Given the description of an element on the screen output the (x, y) to click on. 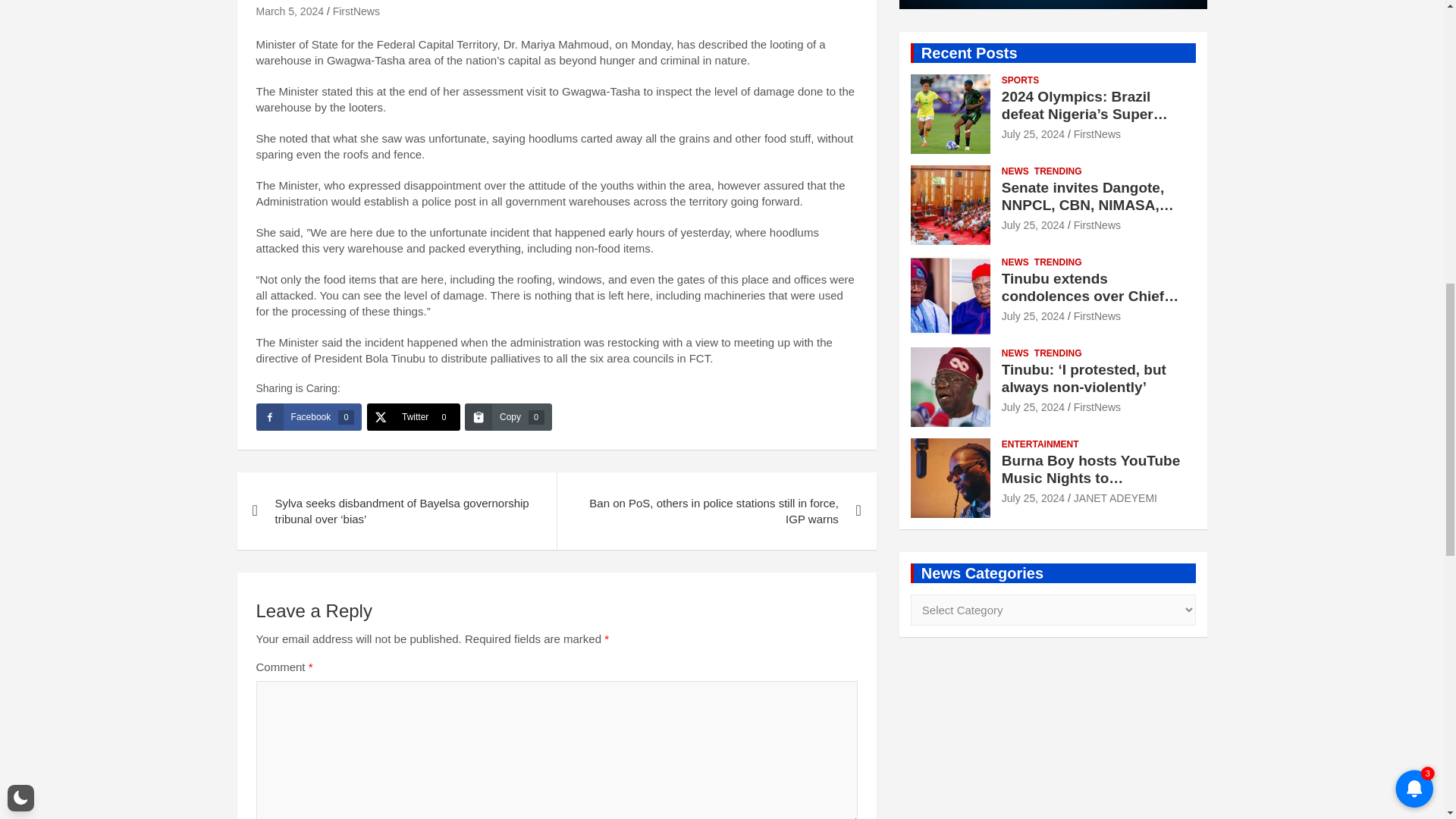
FirstNews (356, 10)
March 5, 2024 (290, 10)
